Given the description of an element on the screen output the (x, y) to click on. 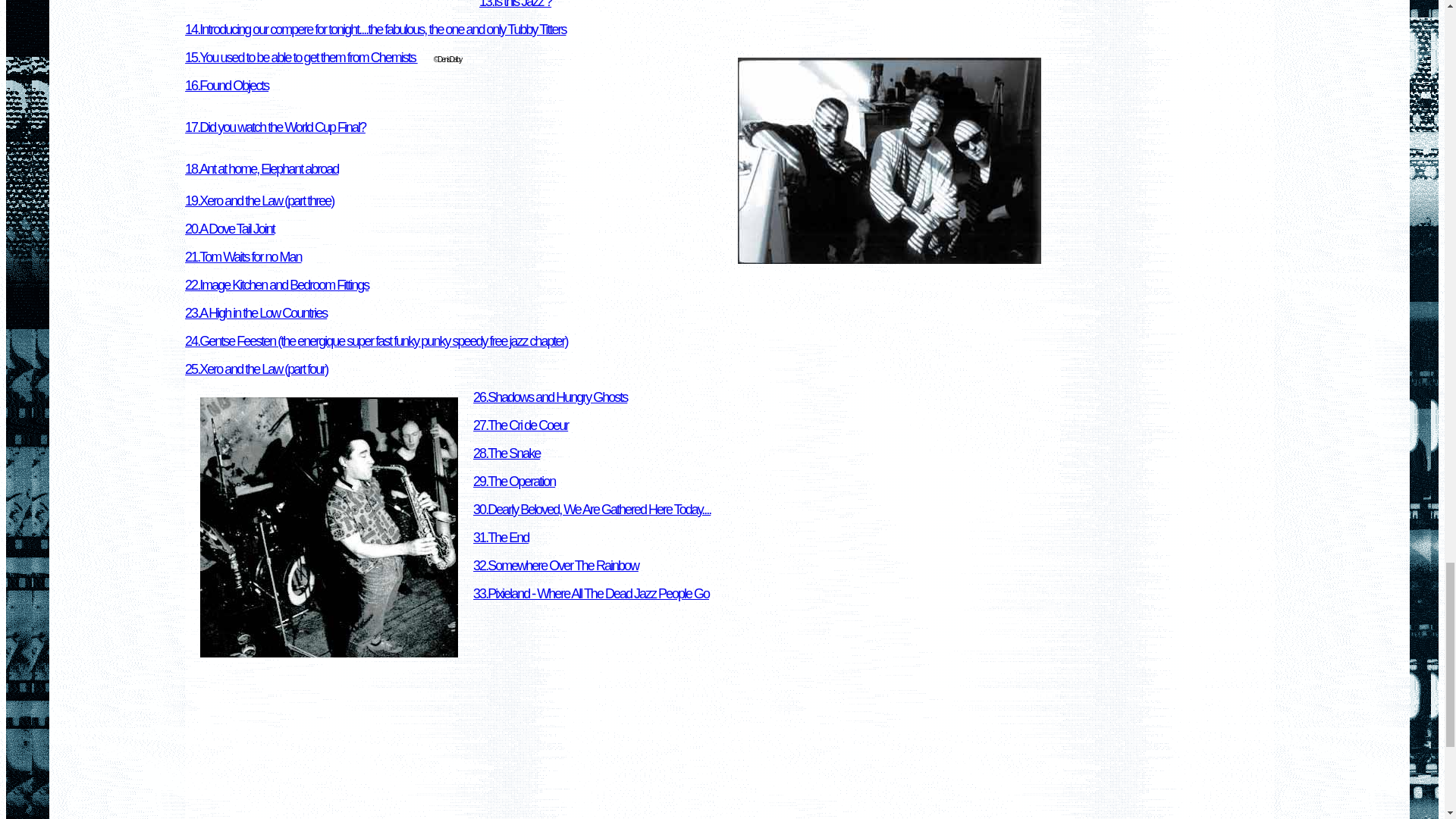
26.Shadows and Hungry Ghosts (550, 396)
20.A Dove Tail Joint (229, 228)
22.Image Kitchen and Bedroom Fittings (276, 284)
30.Dearly Beloved, We Are Gathered Here Today.... (591, 509)
21.Tom Waits for no Man (242, 256)
15.You used to be able to get them from Chemists (300, 57)
31.The End (500, 537)
16.Found Objects (225, 85)
32.Somewhere Over The Rainbow (556, 565)
13.Is this Jazz ? (515, 4)
28.The Snake (506, 453)
27.The Cri de Coeur (520, 425)
18.Ant at home, Elephant abroad (260, 168)
29.The Operation (513, 481)
23.A High in the Low Countries (255, 313)
